Given the description of an element on the screen output the (x, y) to click on. 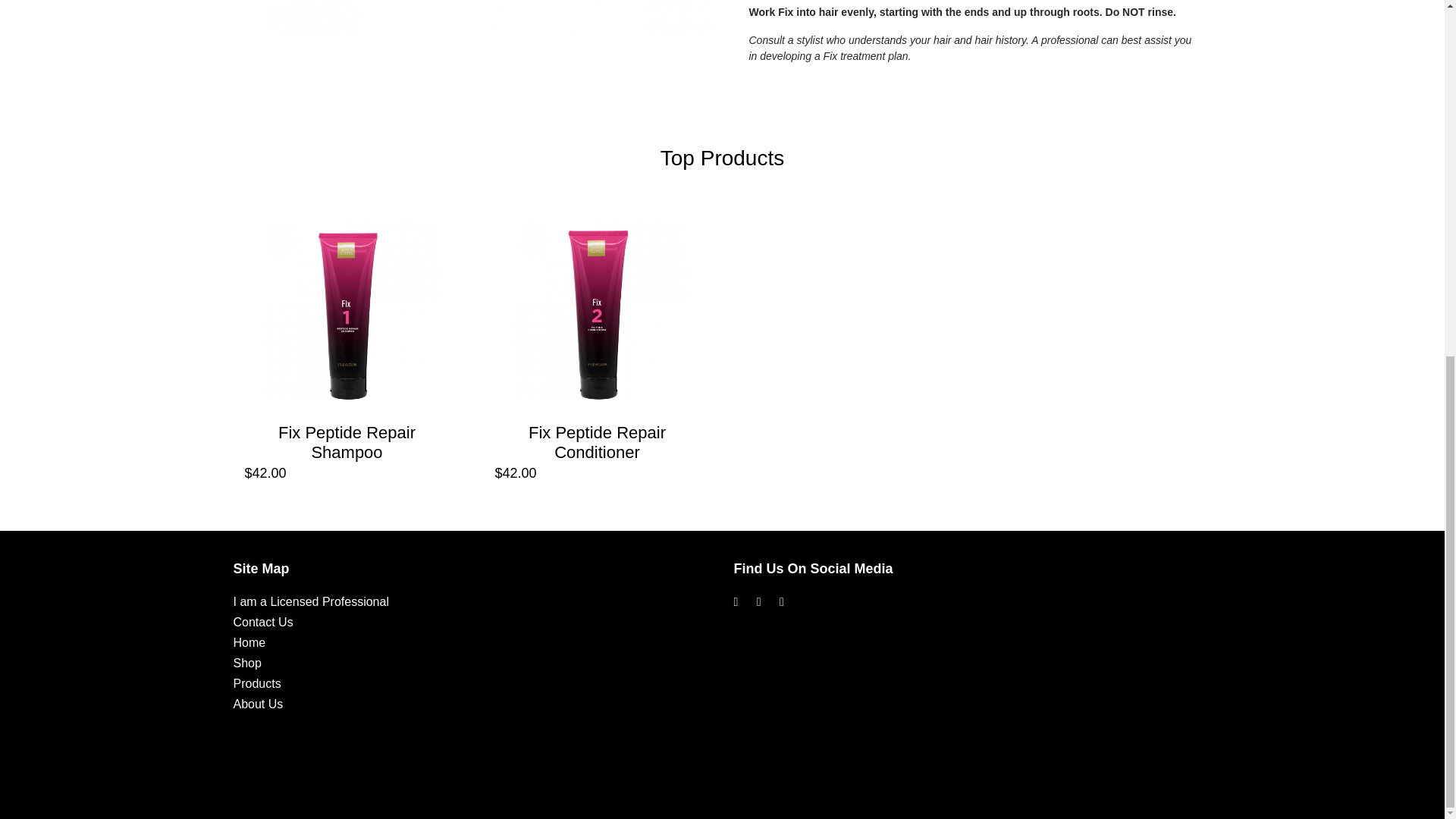
Products (256, 683)
Home (249, 642)
Shop (247, 662)
Fix Peptide Repair Shampoo (346, 442)
Contact Us (263, 621)
I am a Licensed Professional (310, 601)
Fix Peptide Repair Conditioner (596, 442)
About Us (257, 703)
